Given the description of an element on the screen output the (x, y) to click on. 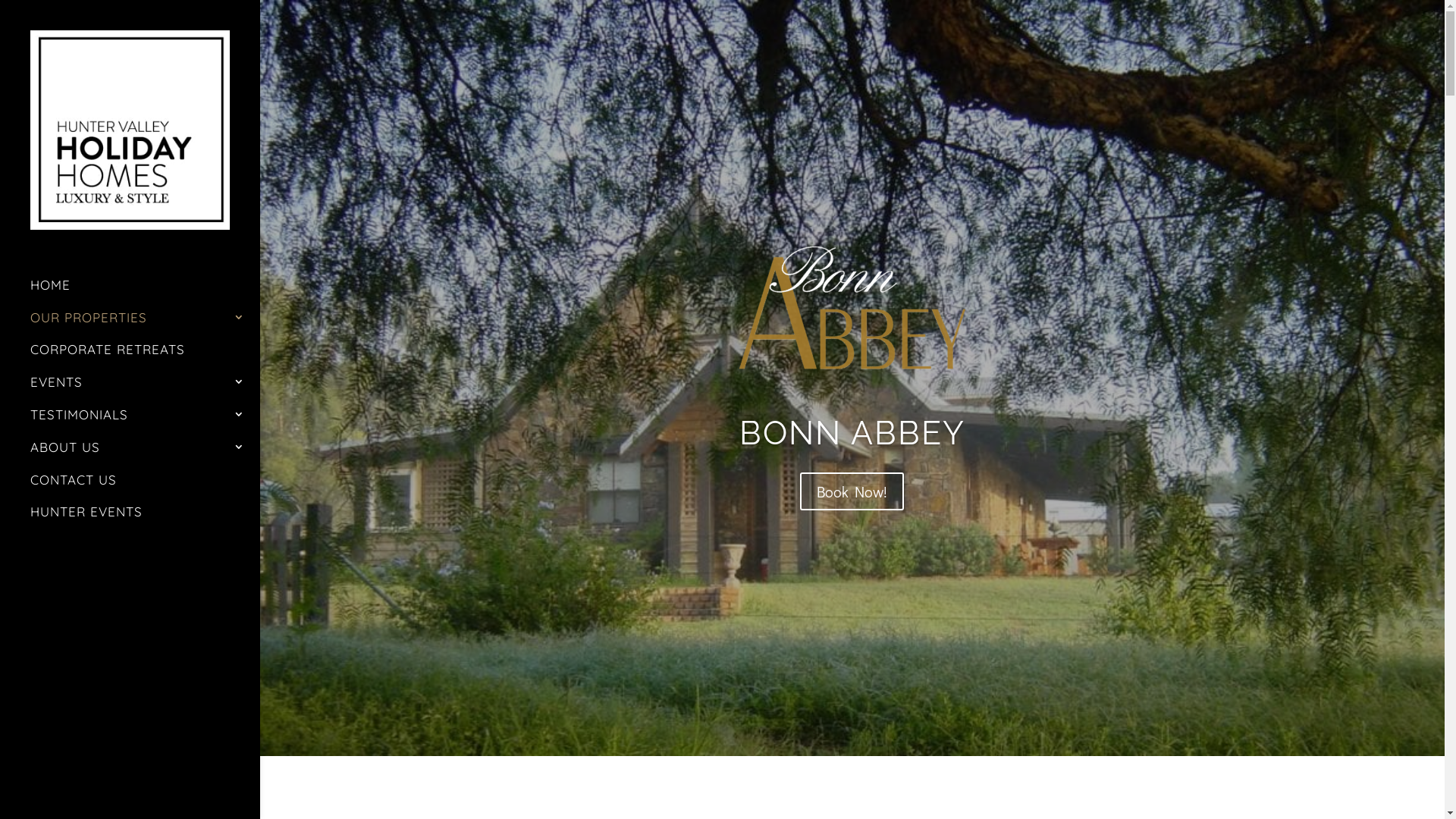
CONTACT US Element type: text (145, 486)
OUR PROPERTIES Element type: text (145, 324)
EVENTS Element type: text (145, 389)
HUNTER EVENTS Element type: text (145, 518)
CORPORATE RETREATS Element type: text (145, 356)
Book Now! Element type: text (851, 491)
ABOUT US Element type: text (145, 454)
HOME Element type: text (145, 292)
TESTIMONIALS Element type: text (145, 421)
